Given the description of an element on the screen output the (x, y) to click on. 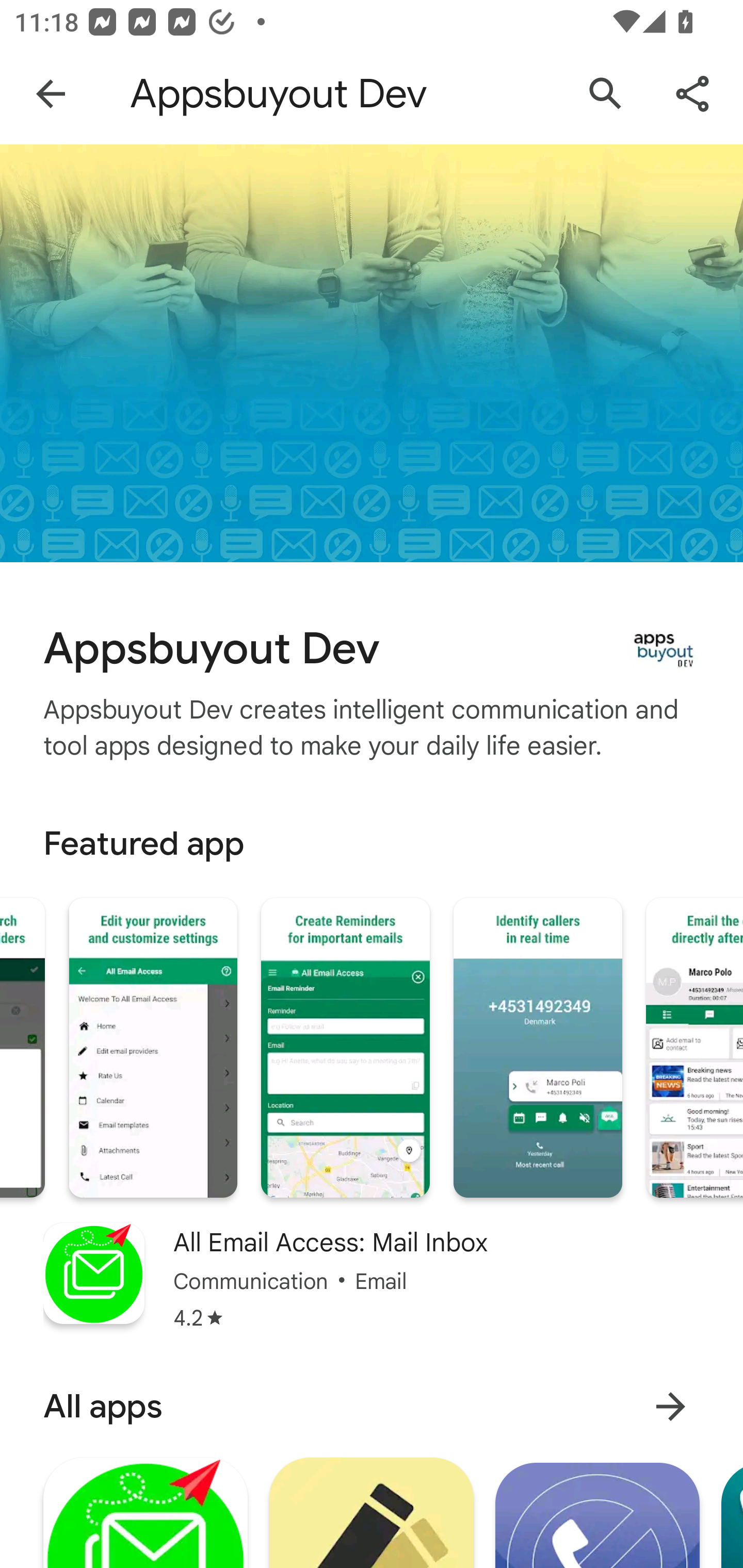
Navigate up (50, 93)
Search Google Play (605, 93)
Share (692, 93)
Screenshot "4" of "7" (152, 1047)
Screenshot "5" of "7" (344, 1047)
Screenshot "6" of "7" (537, 1047)
All apps More results for All apps (371, 1406)
More results for All apps (670, 1406)
